Given the description of an element on the screen output the (x, y) to click on. 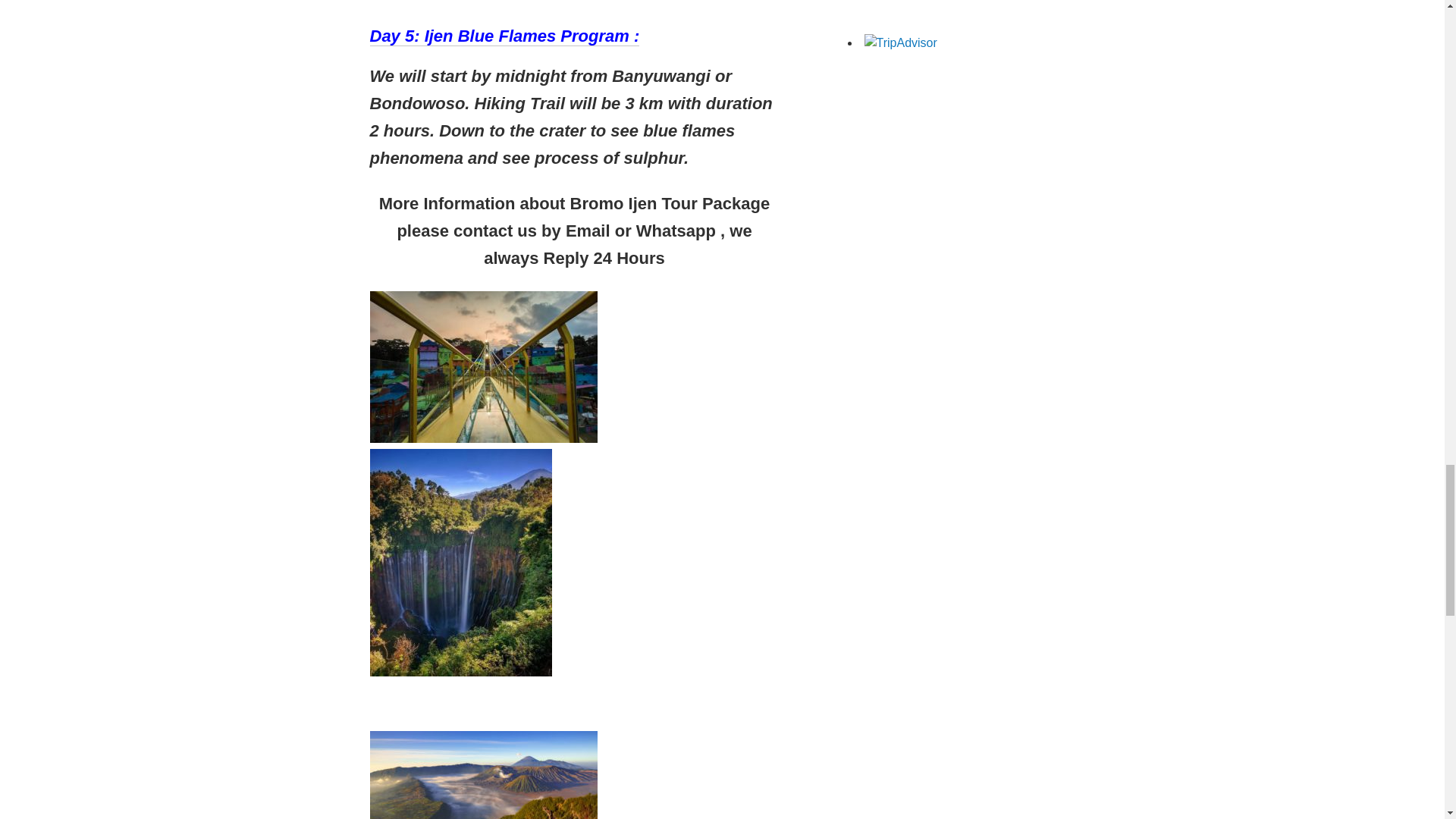
Day 5: Ijen Blue Flames Program : (504, 35)
